Given the description of an element on the screen output the (x, y) to click on. 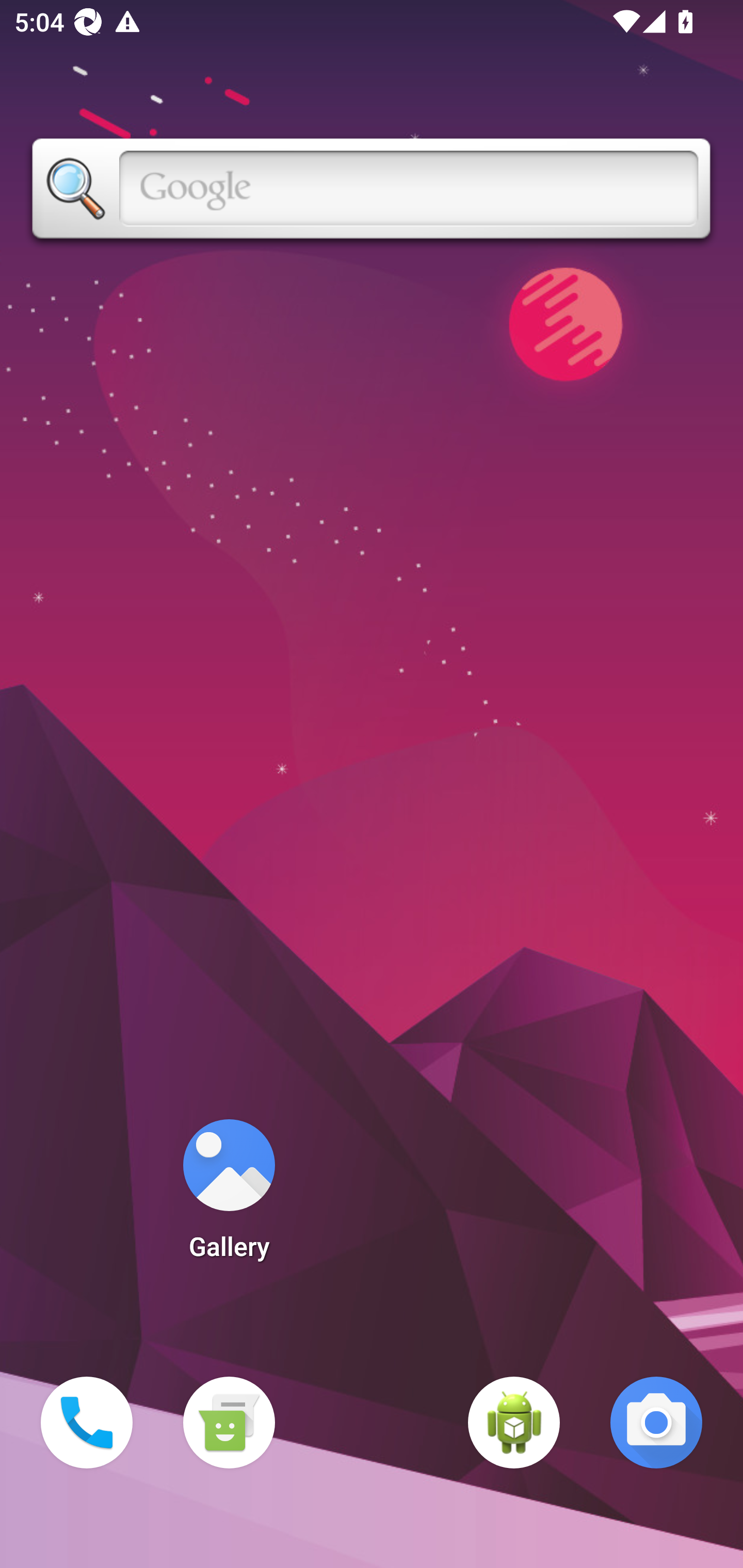
Gallery (228, 1195)
Phone (86, 1422)
Messaging (228, 1422)
WebView Browser Tester (513, 1422)
Camera (656, 1422)
